Given the description of an element on the screen output the (x, y) to click on. 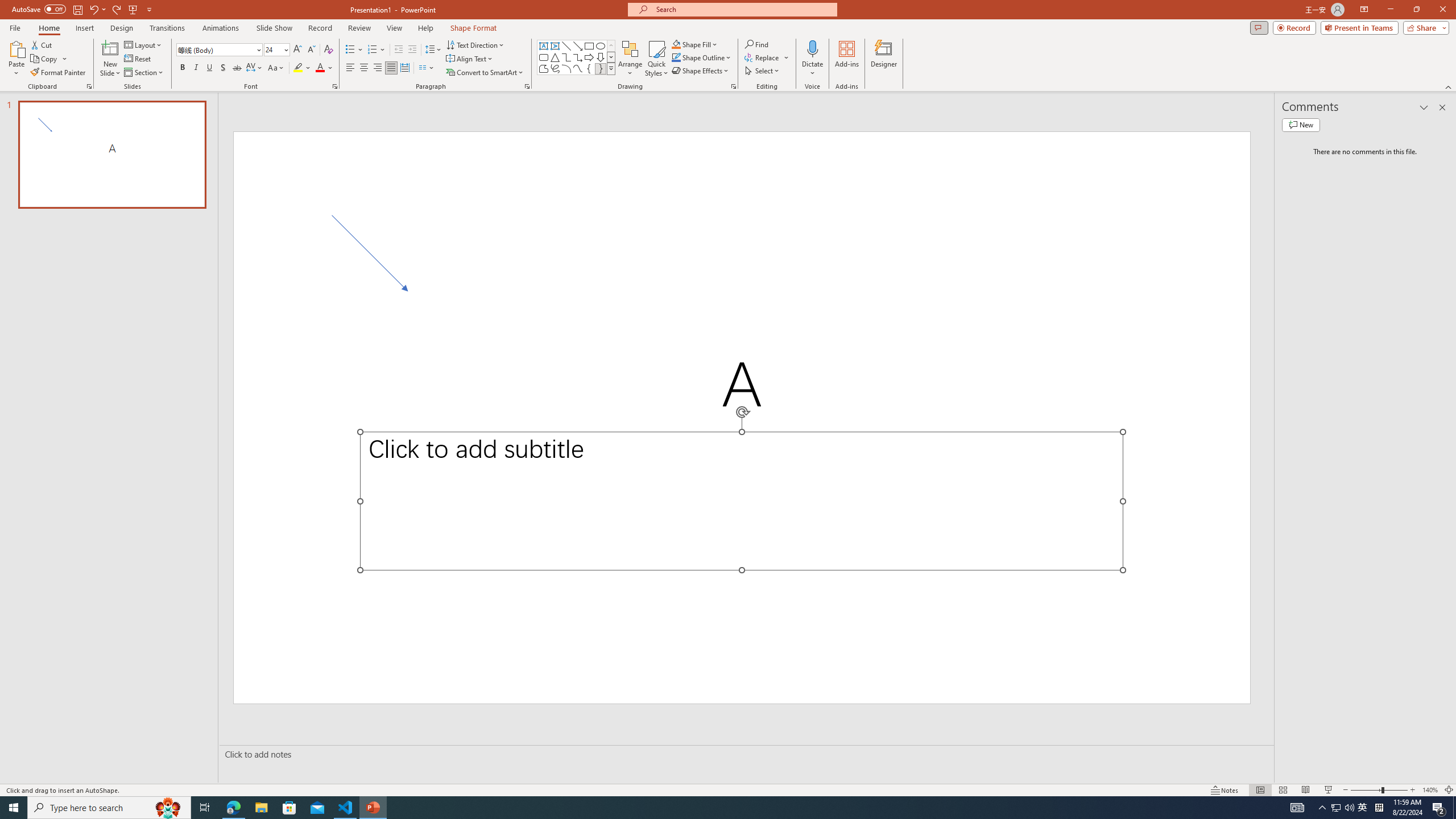
Arc (566, 68)
Character Spacing (254, 67)
Italic (195, 67)
Change Case (276, 67)
Shape Format (473, 28)
Zoom 140% (1430, 790)
Decrease Indent (398, 49)
